Given the description of an element on the screen output the (x, y) to click on. 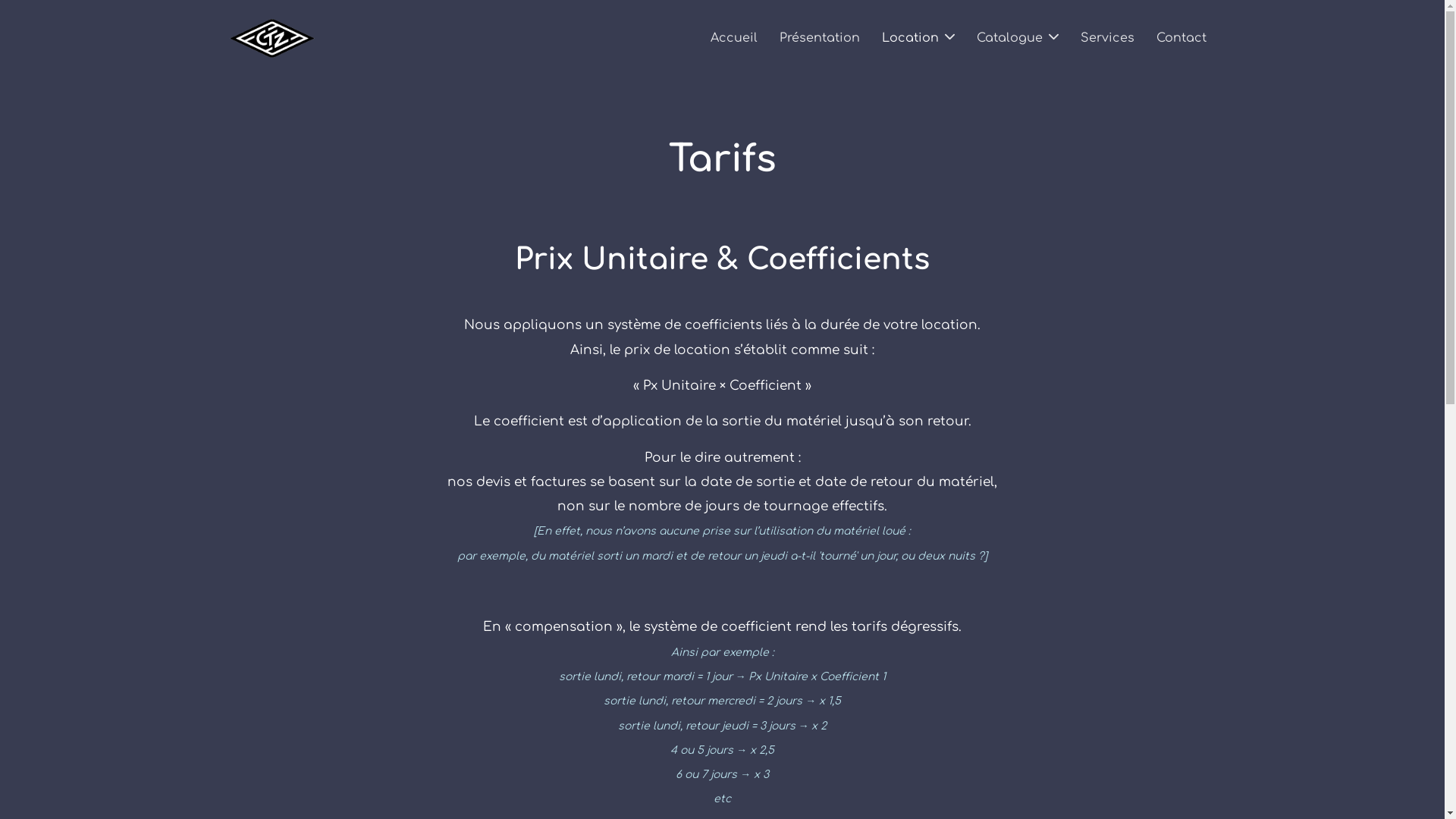
Accueil Element type: text (732, 37)
Services Element type: text (1106, 37)
Contact Element type: text (1180, 37)
